Given the description of an element on the screen output the (x, y) to click on. 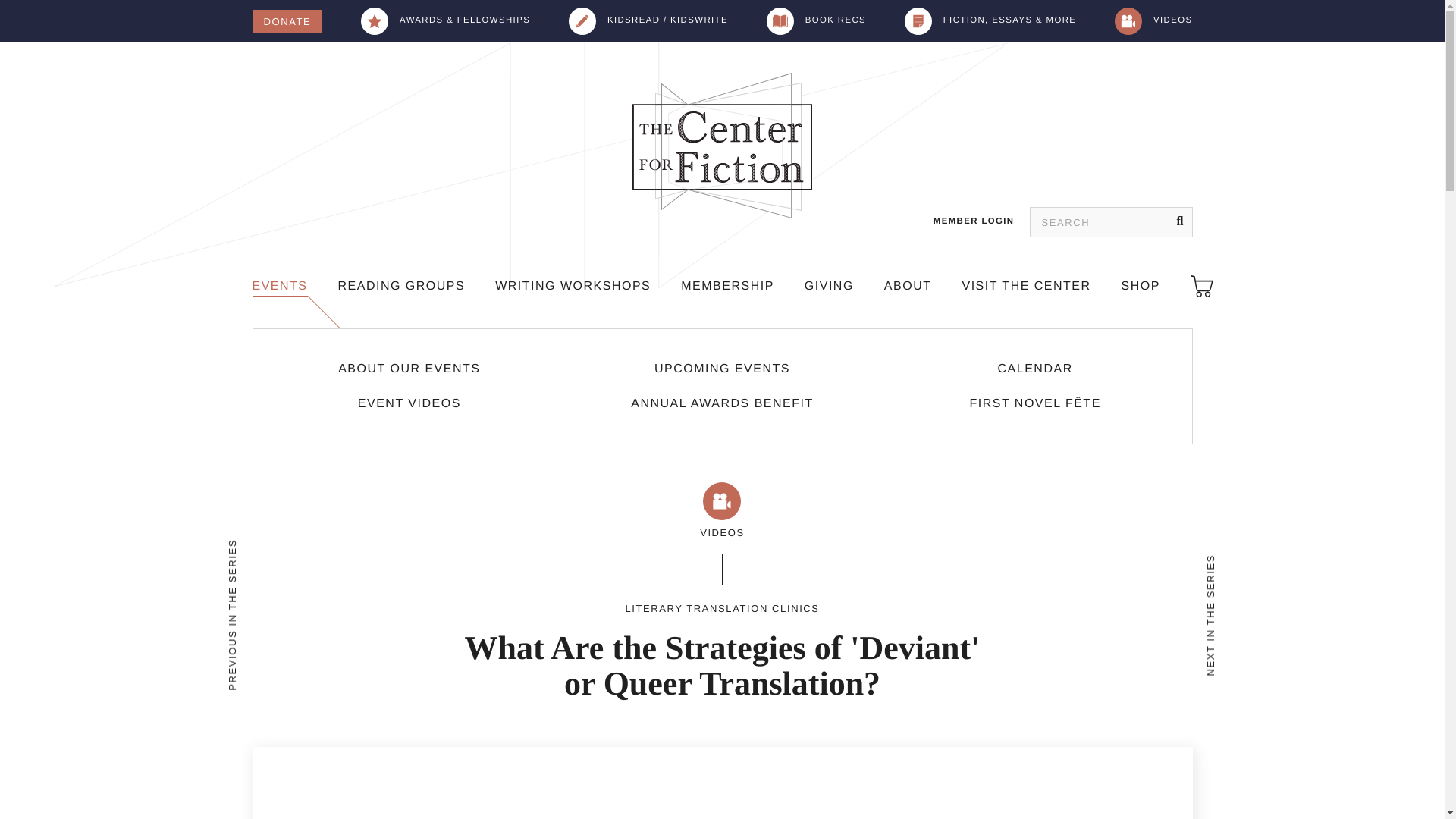
Opens in New Tab (721, 404)
DONATE (286, 20)
View your shopping cart (1201, 286)
EVENTS (279, 286)
MEMBER LOGIN (973, 221)
BOOK RECS (816, 21)
READING GROUPS (401, 286)
Opens in New Tab (1034, 404)
MEMBERSHIP (727, 286)
WRITING WORKSHOPS (572, 286)
VIDEOS (1153, 21)
GIVING (829, 286)
